Given the description of an element on the screen output the (x, y) to click on. 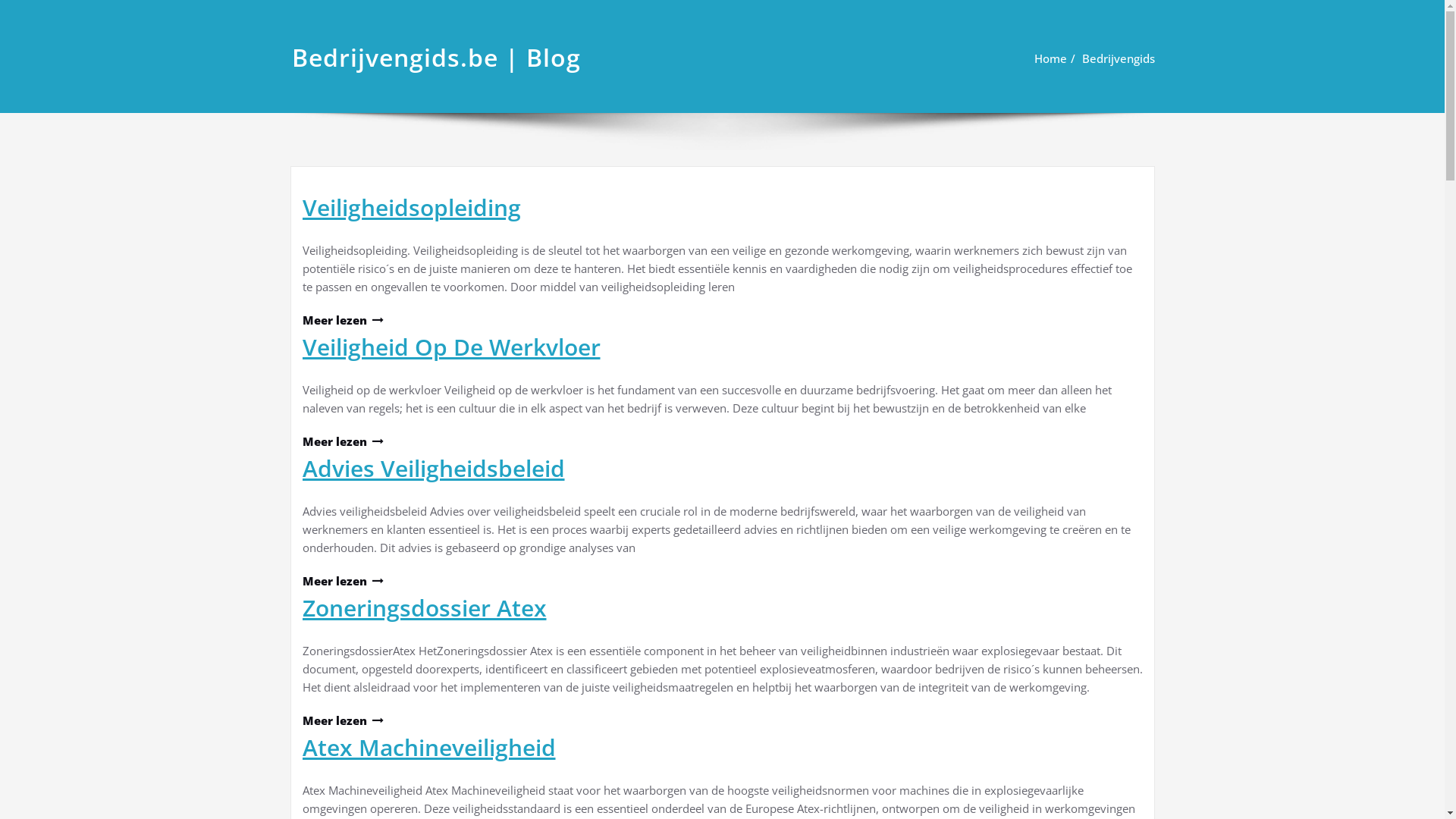
Meer lezen Element type: text (341, 580)
Atex Machineveiligheid Element type: text (428, 746)
Meer lezen Element type: text (341, 720)
Veiligheidsopleiding Element type: text (410, 206)
Home Element type: text (1050, 57)
Bedrijvengids Element type: text (1117, 57)
Meer lezen Element type: text (341, 441)
Zoneringsdossier Atex Element type: text (423, 607)
Veiligheid Op De Werkvloer Element type: text (450, 346)
Meer lezen Element type: text (341, 319)
Advies Veiligheidsbeleid Element type: text (432, 467)
